Given the description of an element on the screen output the (x, y) to click on. 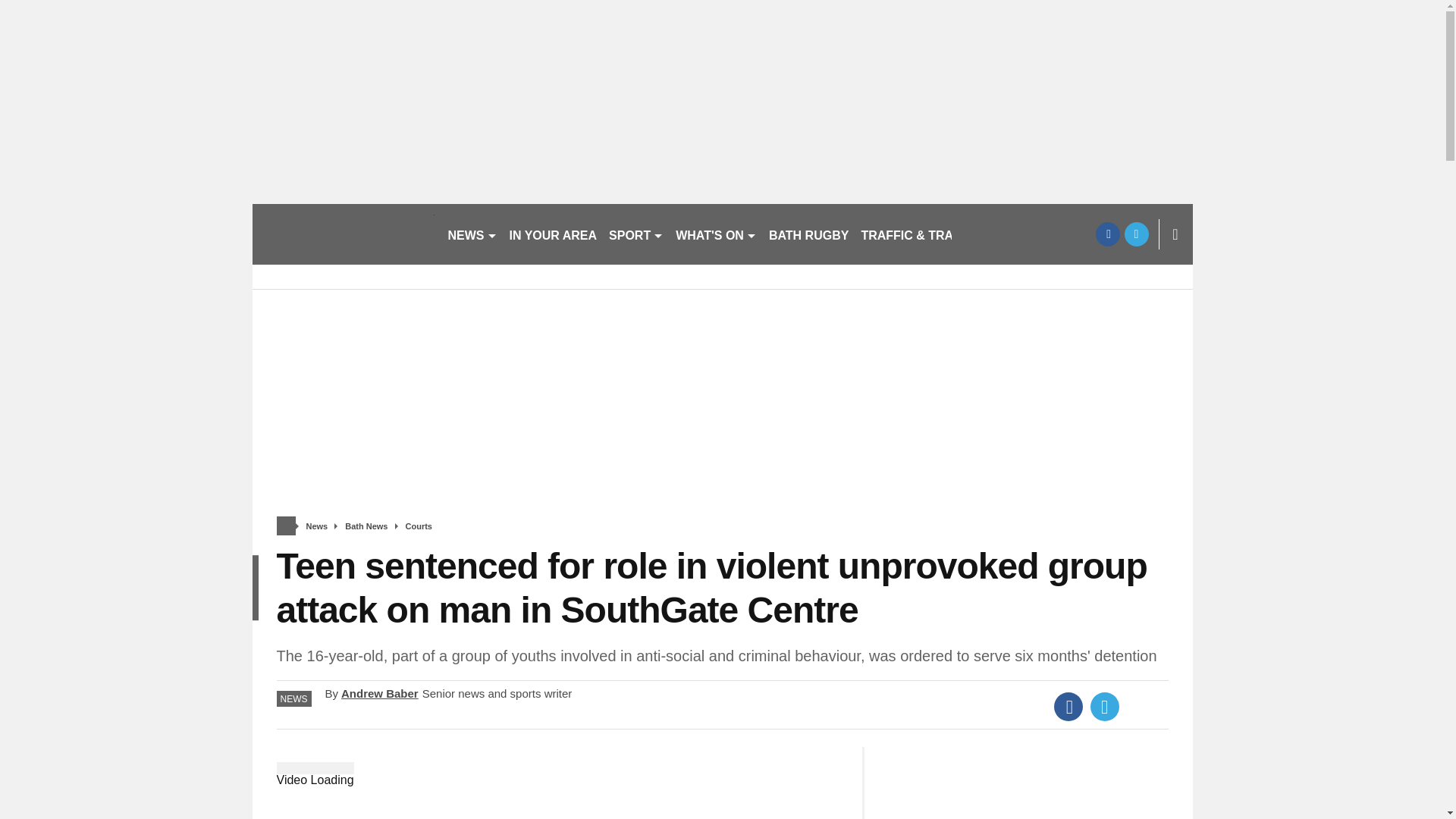
facebook (1106, 233)
NEWS (471, 233)
Facebook (1068, 706)
Twitter (1104, 706)
twitter (1136, 233)
bathchronicle (342, 233)
BATH RUGBY (808, 233)
IN YOUR AREA (553, 233)
WHAT'S ON (715, 233)
SPORT (635, 233)
